Given the description of an element on the screen output the (x, y) to click on. 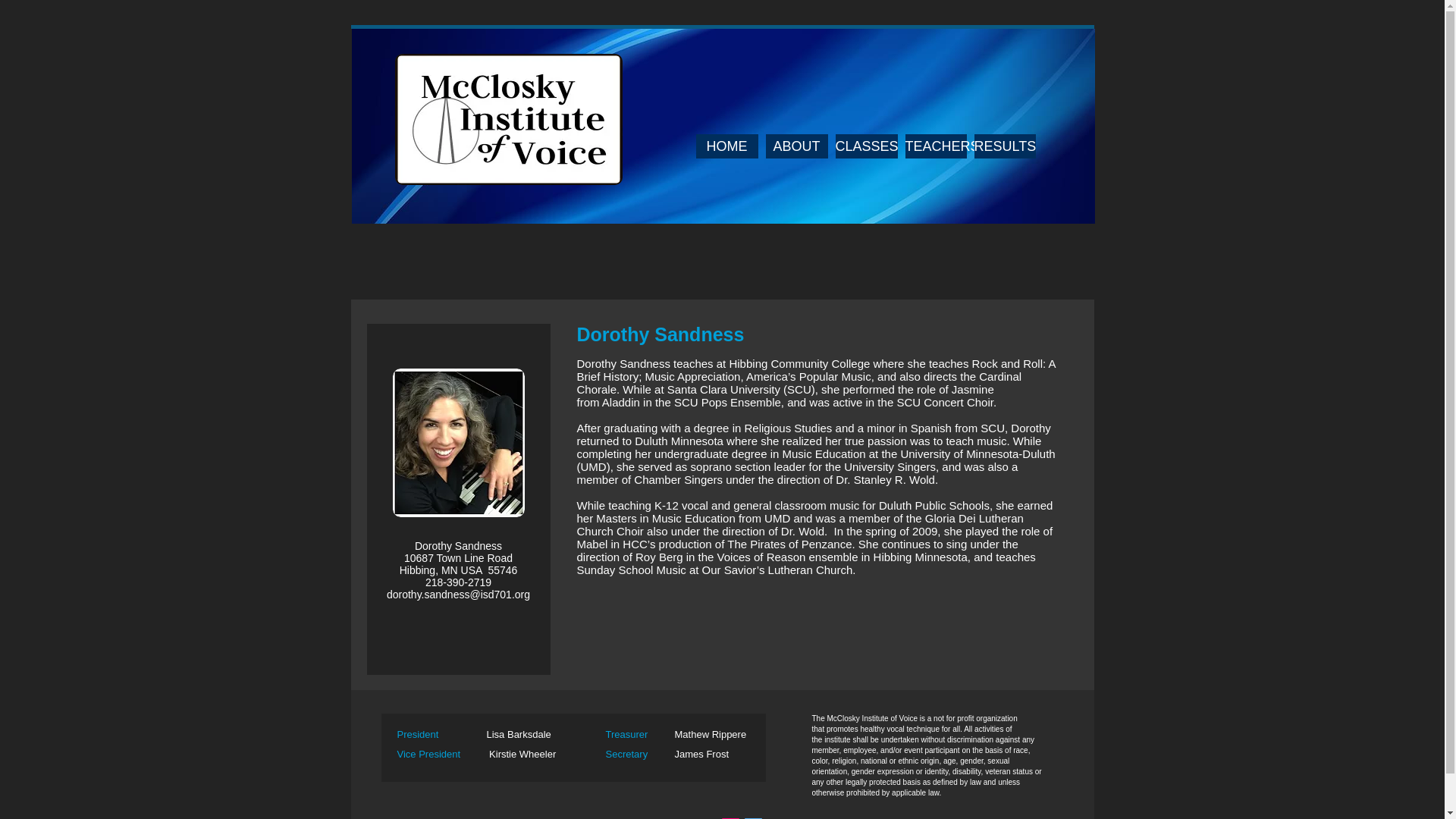
HOME (726, 146)
CLASSES (866, 146)
RESULTS (1004, 146)
ABOUT (796, 146)
McLogoBandW2.jpg (507, 119)
TEACHERS (935, 146)
